Given the description of an element on the screen output the (x, y) to click on. 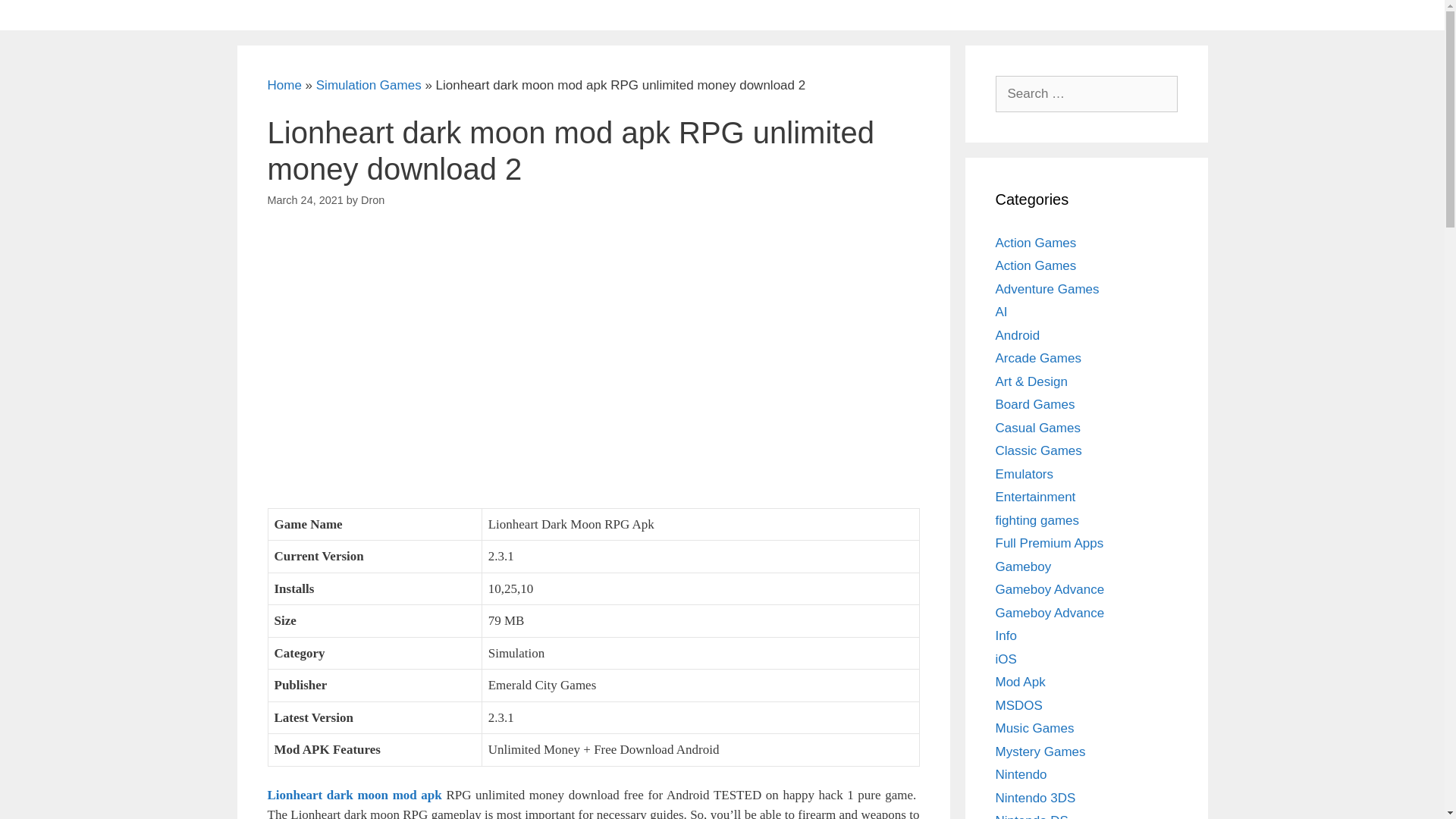
Entertainment (1034, 496)
Action Games (1034, 242)
Adventure Games (1046, 288)
Android (1016, 334)
Home (283, 84)
Full Premium Apps (1048, 543)
Nintendo DS (1030, 816)
Info (1005, 635)
Gameboy (1022, 566)
Nintendo 3DS (1034, 797)
